Given the description of an element on the screen output the (x, y) to click on. 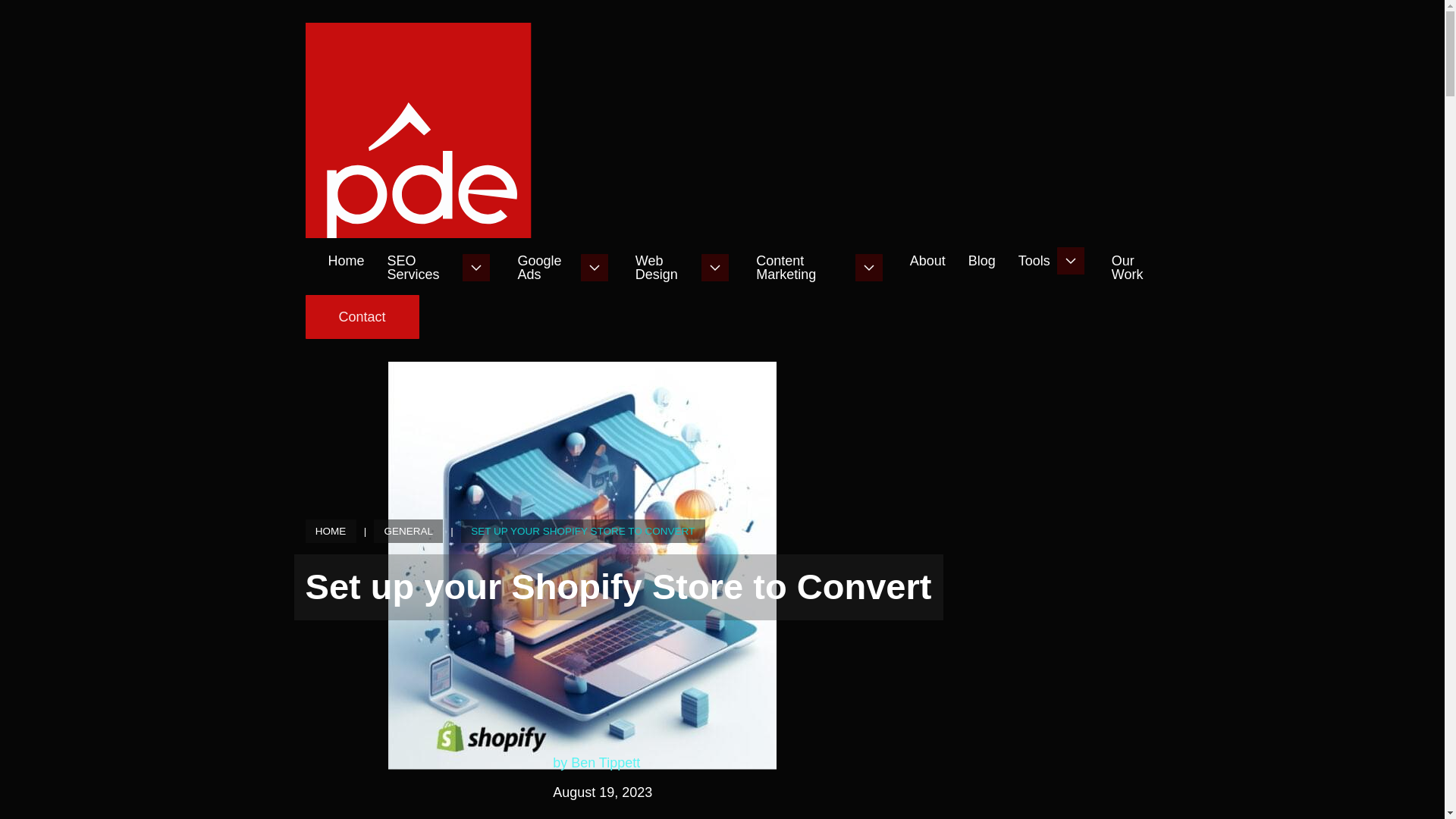
Web Design (664, 267)
Home (345, 260)
SEO Services (422, 267)
Our Work (1136, 267)
Content Marketing (801, 267)
Google Ads (544, 267)
